Given the description of an element on the screen output the (x, y) to click on. 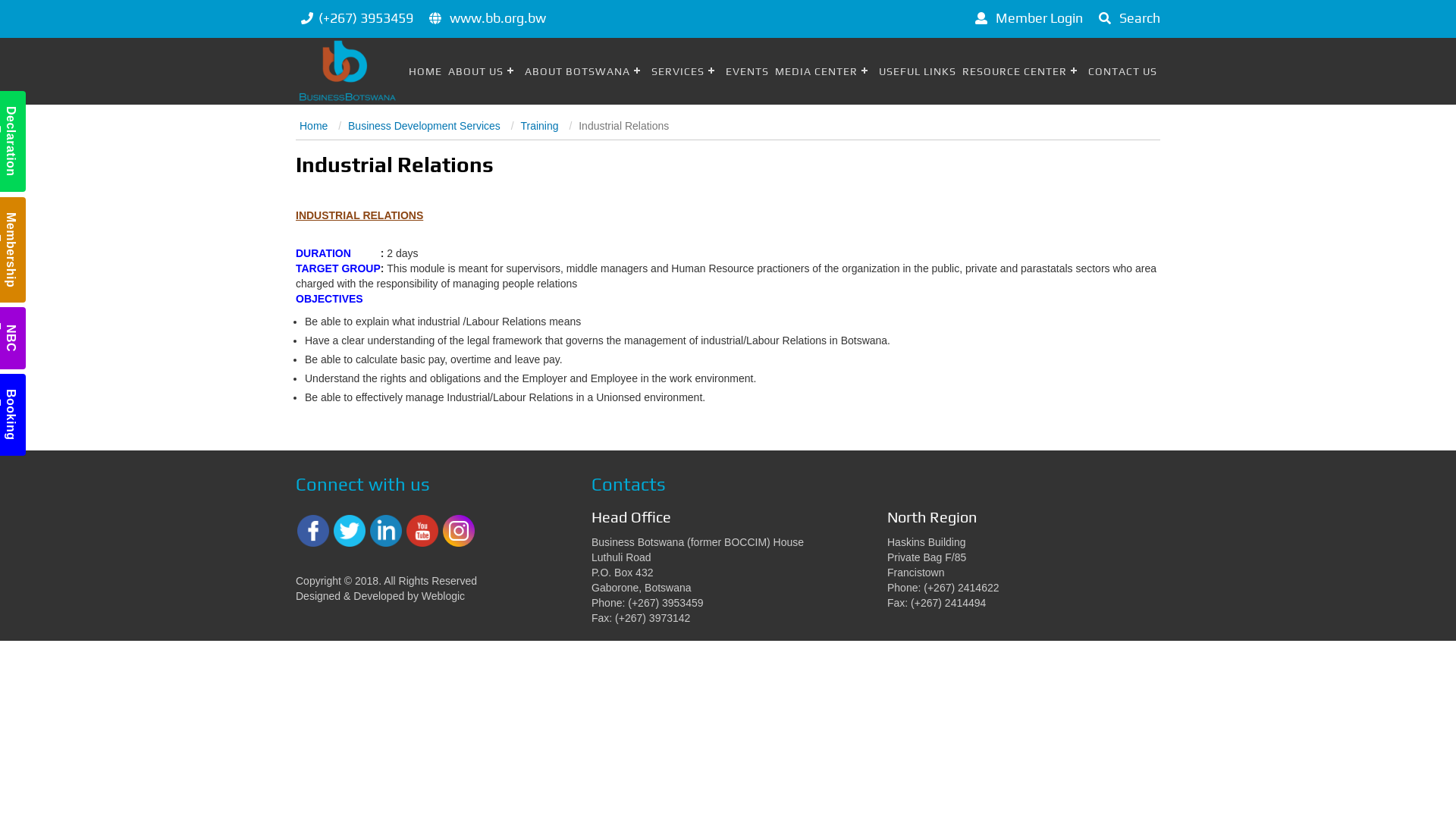
RESOURCE CENTER Element type: text (1022, 71)
www.bb.org.bw Element type: text (497, 17)
Training Element type: text (539, 125)
Member Login Element type: text (1025, 17)
CONTACT US Element type: text (1122, 71)
ABOUT US Element type: text (483, 71)
SERVICES Element type: text (685, 71)
ABOUT BOTSWANA Element type: text (584, 71)
USEFUL LINKS Element type: text (917, 71)
Home Element type: text (313, 125)
Search Element type: text (1126, 17)
HOME Element type: text (425, 71)
EVENTS Element type: text (746, 71)
Designed & Developed by Weblogic Element type: text (379, 595)
Business Development Services Element type: text (424, 125)
MEDIA CENTER Element type: text (823, 71)
